Given the description of an element on the screen output the (x, y) to click on. 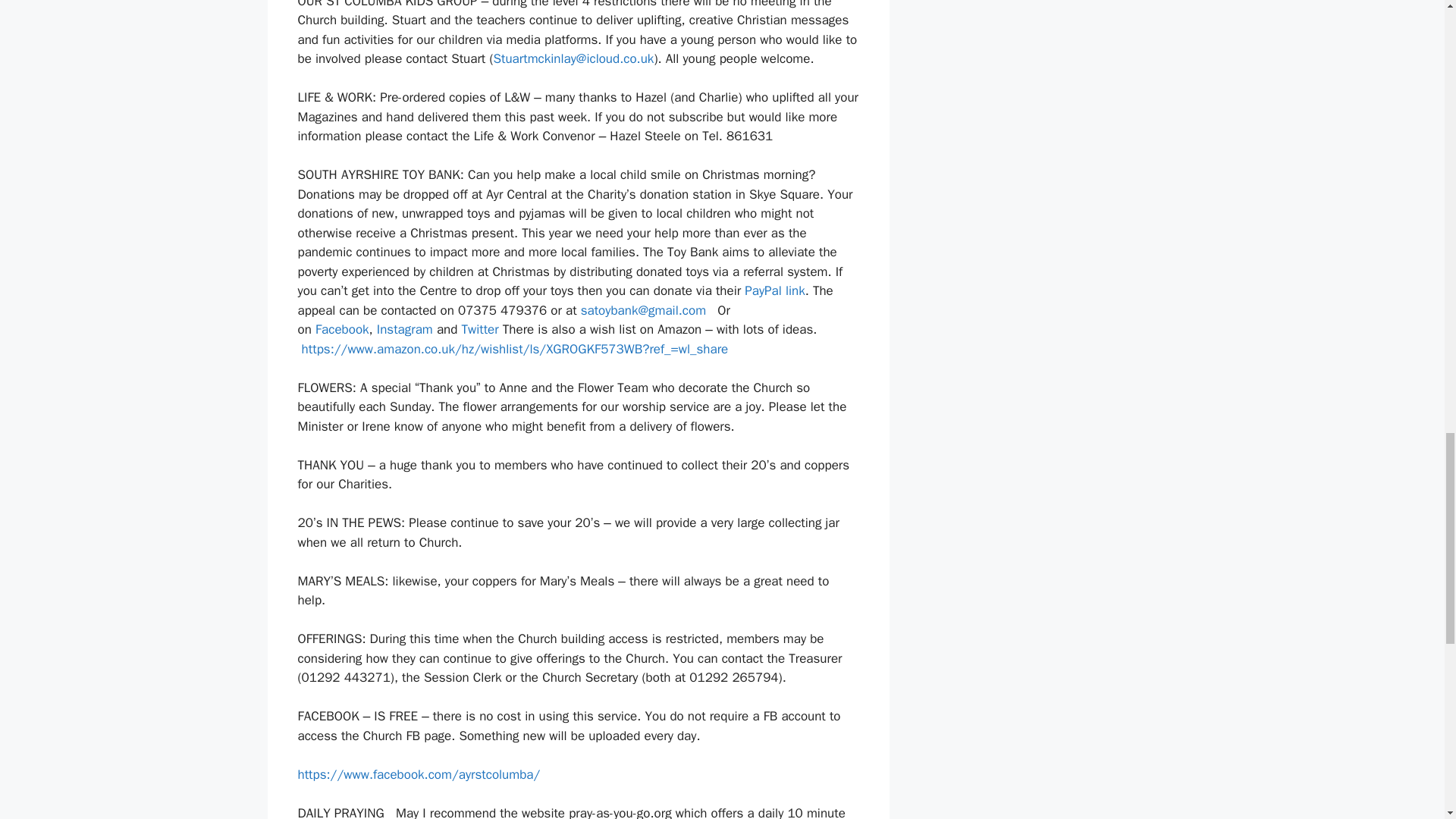
Facebook (342, 329)
PayPal link (774, 290)
Twitter (479, 329)
Instagram (404, 329)
